Given the description of an element on the screen output the (x, y) to click on. 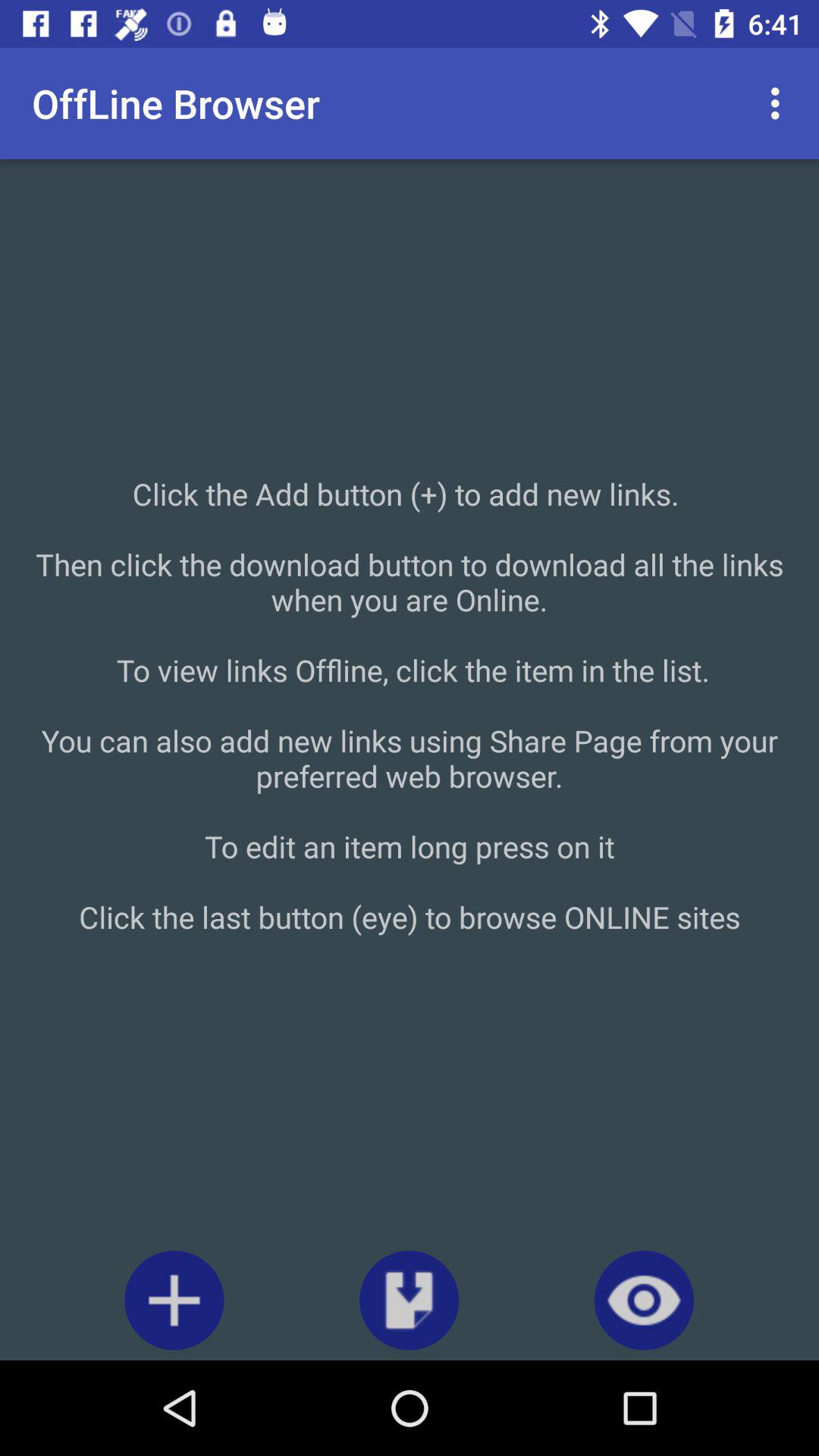
turn on the icon to the right of the offline browser (779, 103)
